Given the description of an element on the screen output the (x, y) to click on. 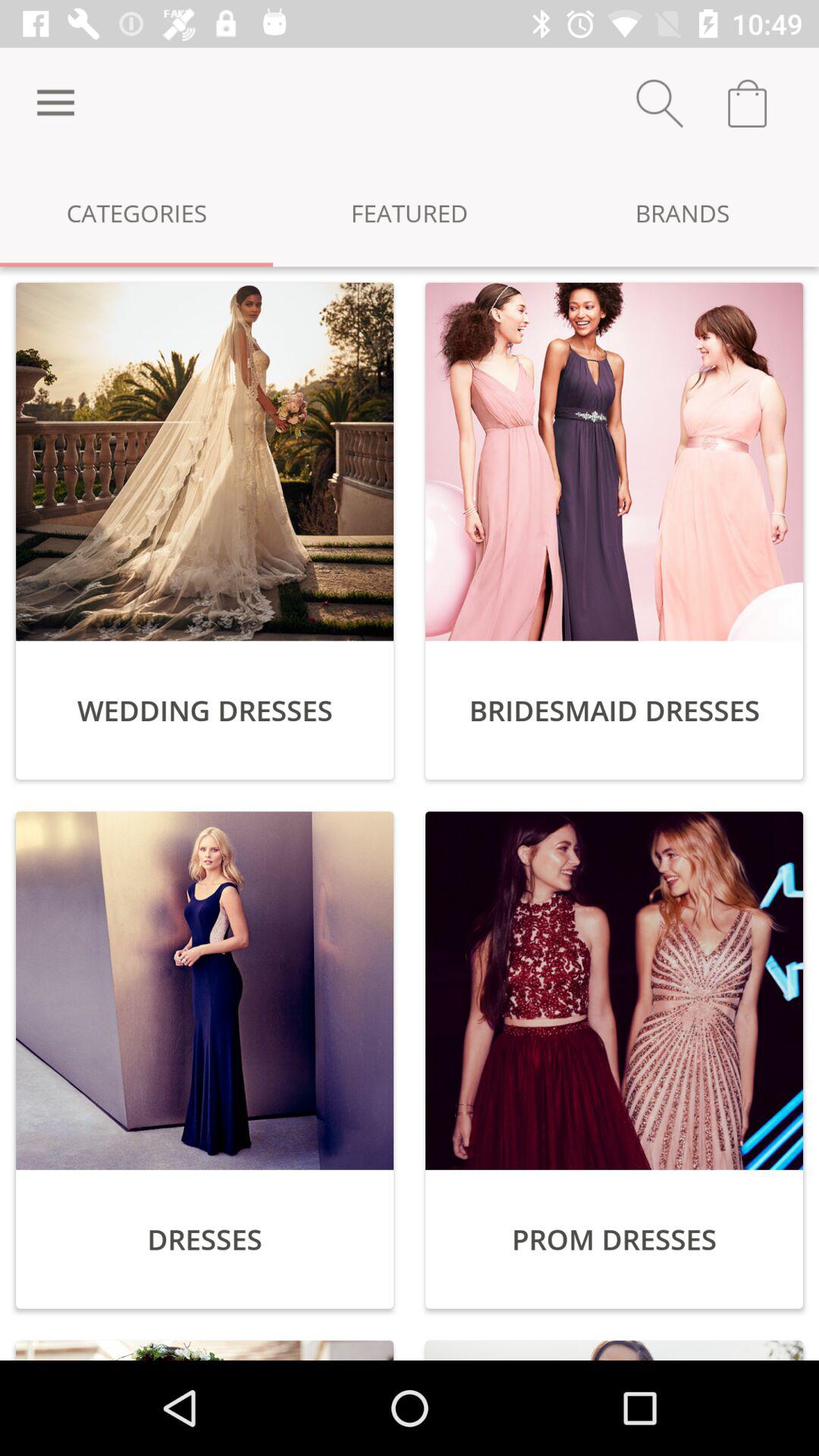
choose the item to the right of the featured (682, 212)
